Given the description of an element on the screen output the (x, y) to click on. 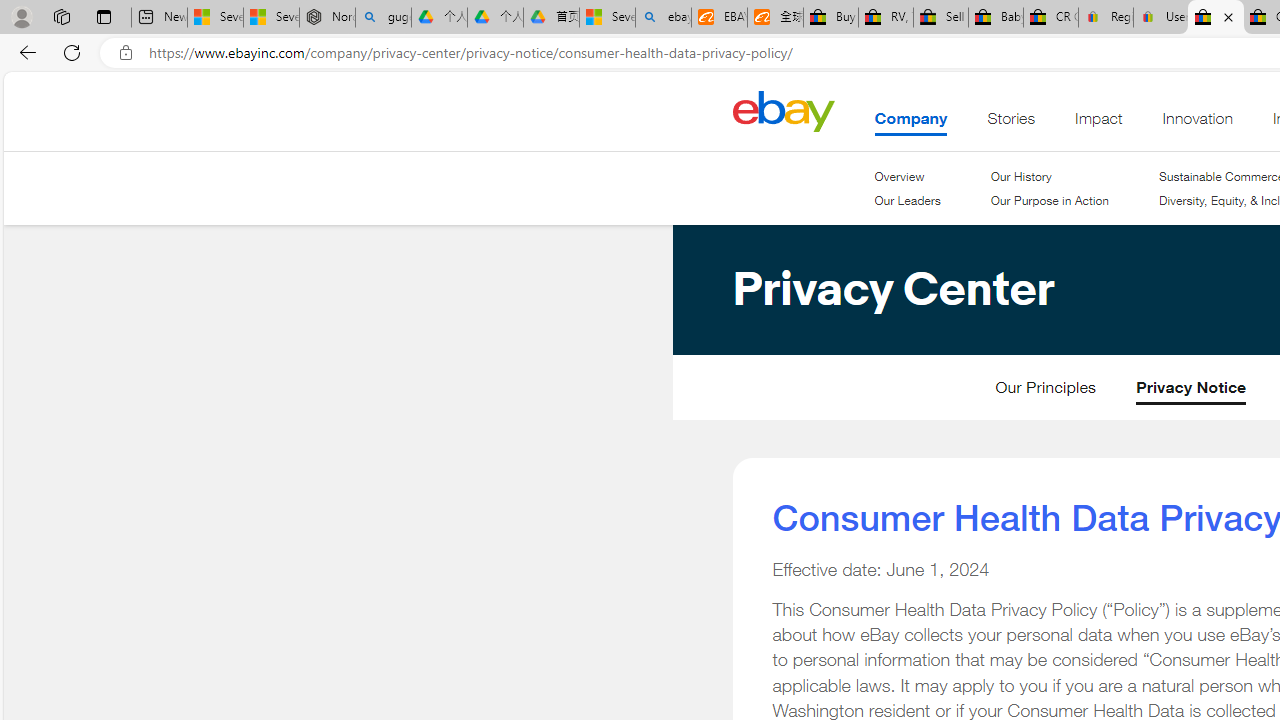
Innovation (1197, 123)
Impact (1098, 123)
Company . This is the current section. (911, 123)
ebay - Search (663, 17)
RV, Trailer & Camper Steps & Ladders for sale | eBay (885, 17)
Company (911, 123)
Privacy Center (812, 397)
Our Principles (1045, 391)
Class: desktop (783, 110)
Overview (899, 176)
